Given the description of an element on the screen output the (x, y) to click on. 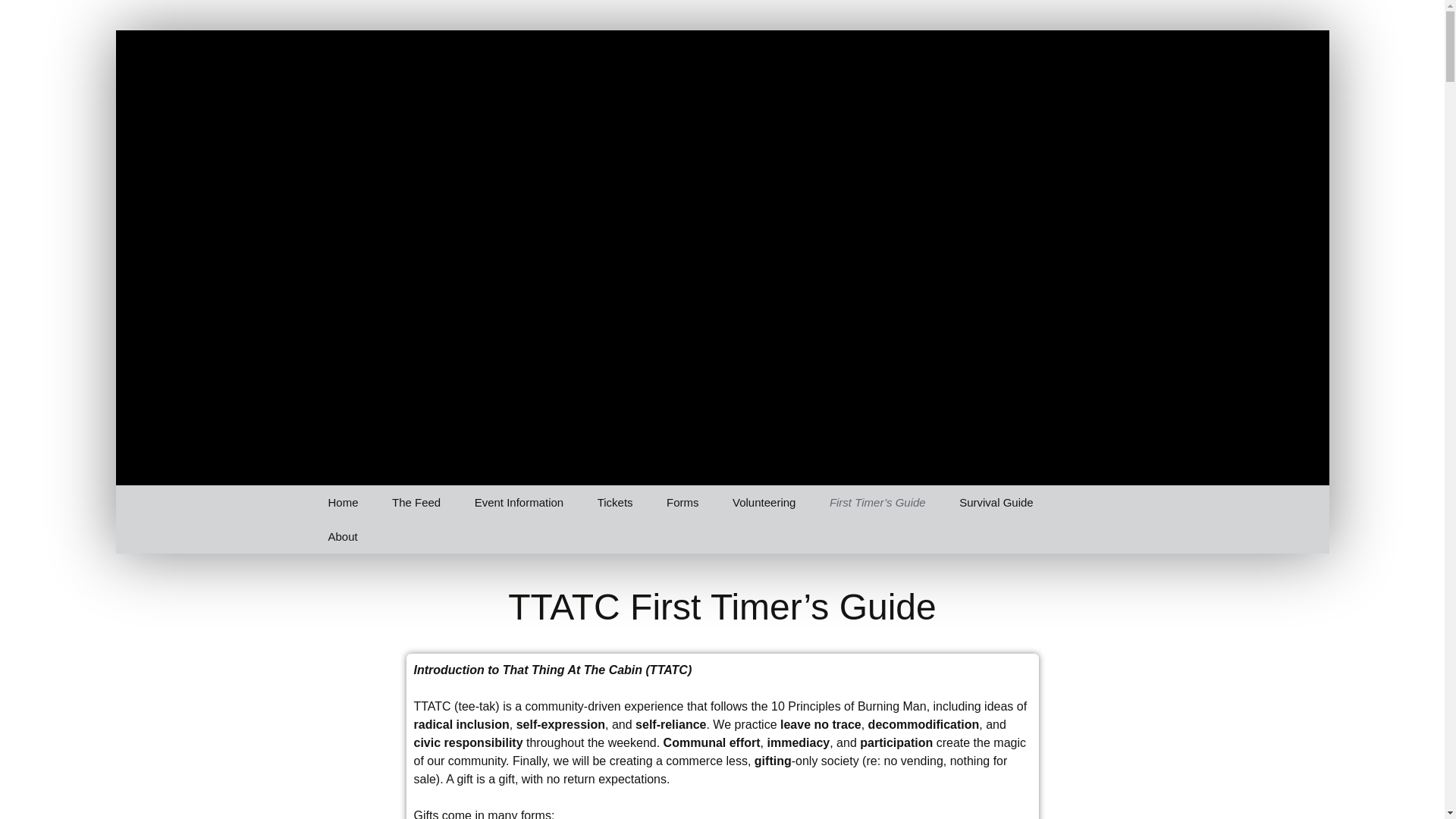
Home (342, 502)
About (342, 536)
Survival Guide (995, 502)
Volunteering (763, 502)
Tickets (614, 502)
The Feed (416, 502)
Forms (682, 502)
Event Information (519, 502)
Volunteer Roles (793, 536)
